Given the description of an element on the screen output the (x, y) to click on. 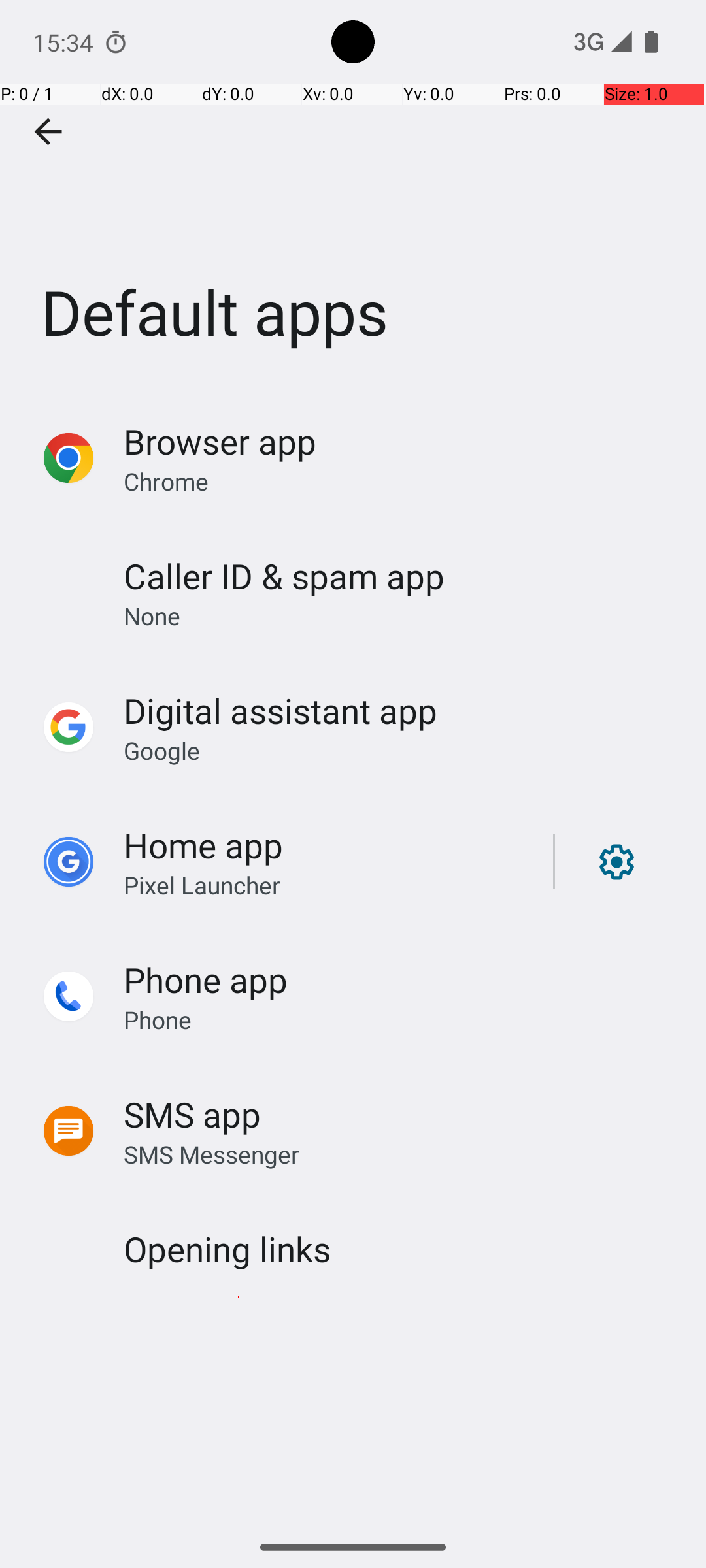
Browser app Element type: android.widget.TextView (220, 441)
Caller ID & spam app Element type: android.widget.TextView (283, 575)
Digital assistant app Element type: android.widget.TextView (280, 710)
Home app Element type: android.widget.TextView (203, 844)
Phone app Element type: android.widget.TextView (205, 979)
SMS app Element type: android.widget.TextView (191, 1114)
Opening links Element type: android.widget.TextView (226, 1248)
